Given the description of an element on the screen output the (x, y) to click on. 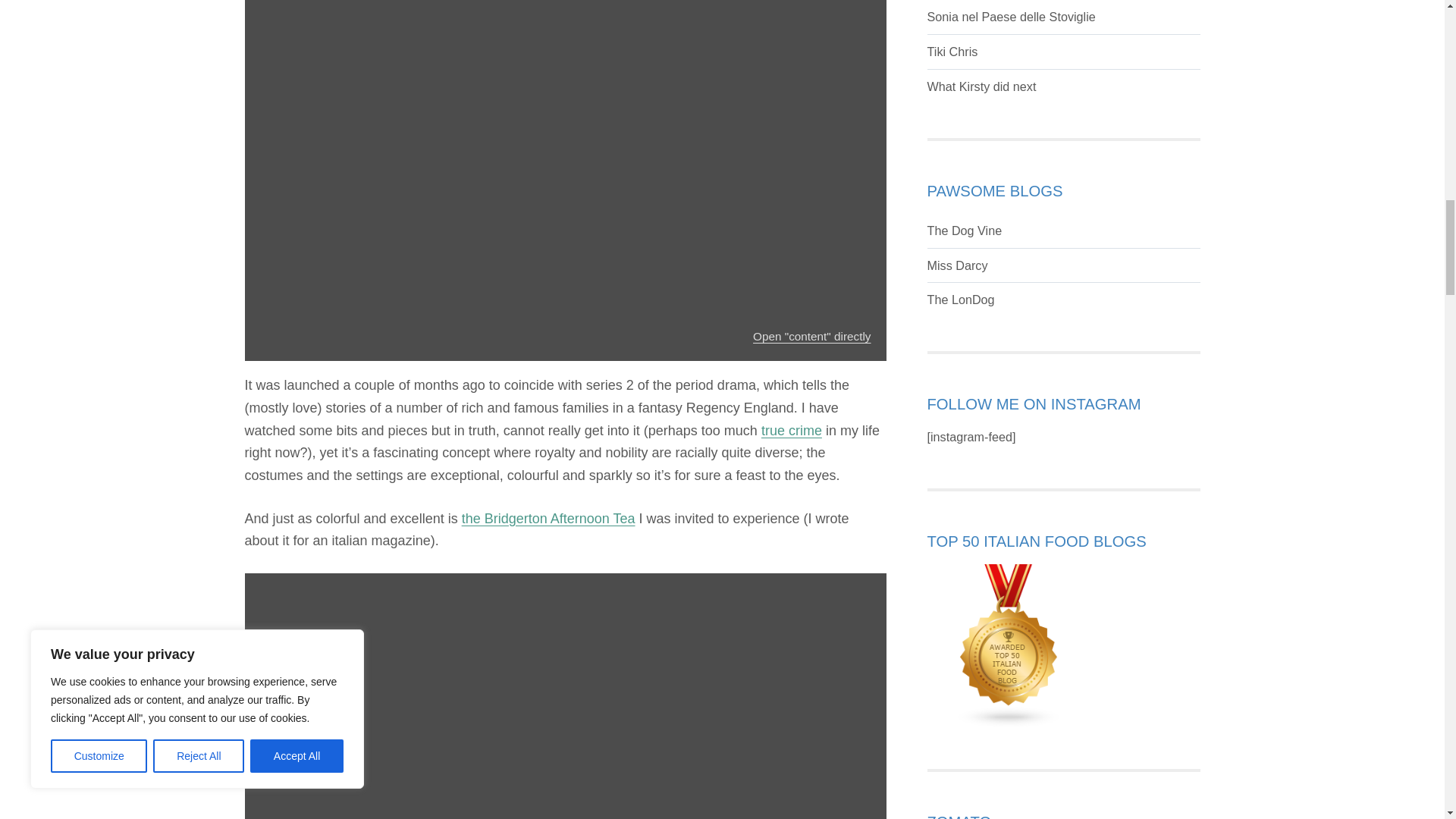
the Bridgerton Afternoon Tea (547, 518)
Open "content" directly (811, 336)
Italian Food blogs (1008, 644)
true crime (791, 430)
